Given the description of an element on the screen output the (x, y) to click on. 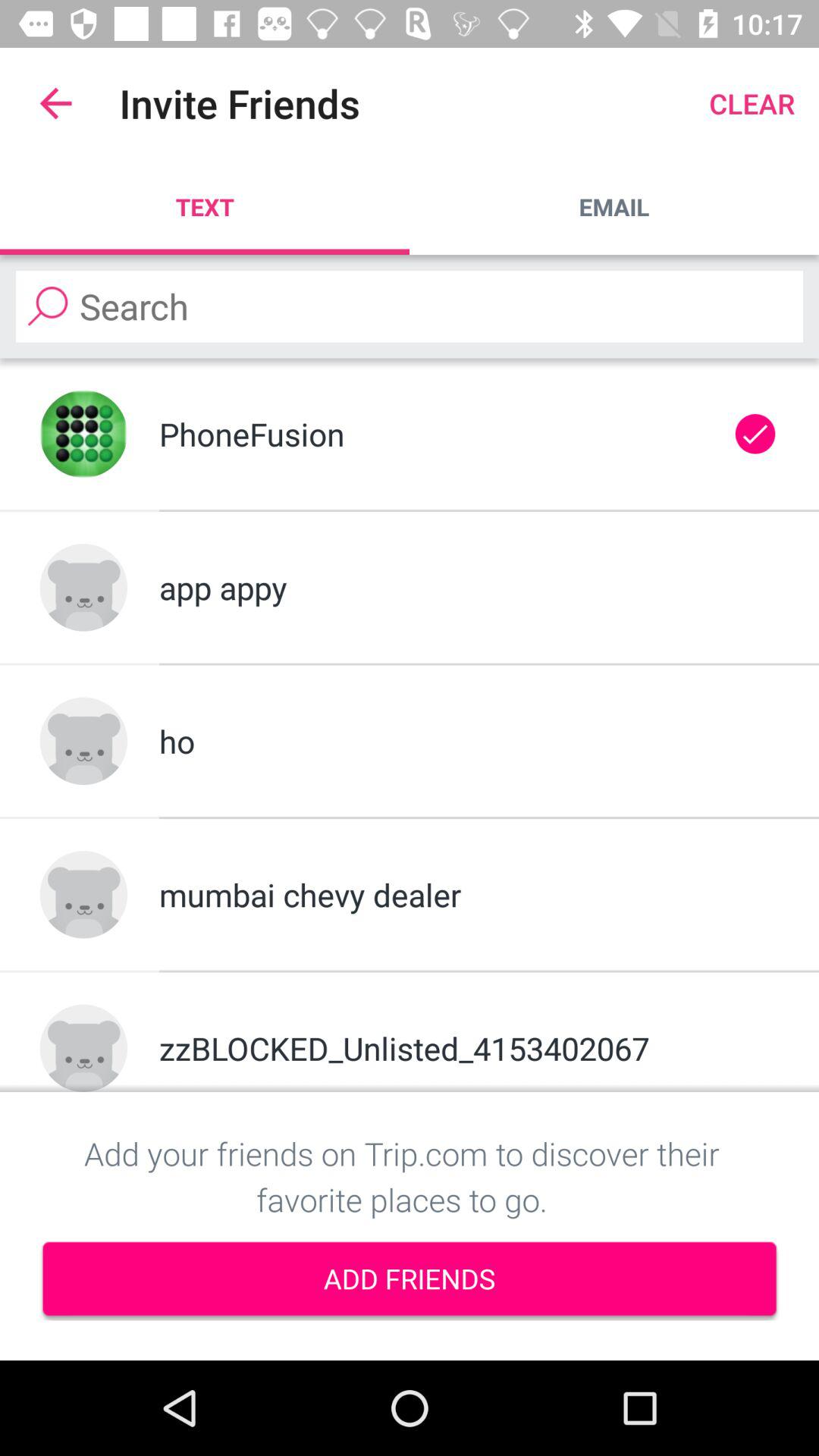
choose app appy item (469, 587)
